Given the description of an element on the screen output the (x, y) to click on. 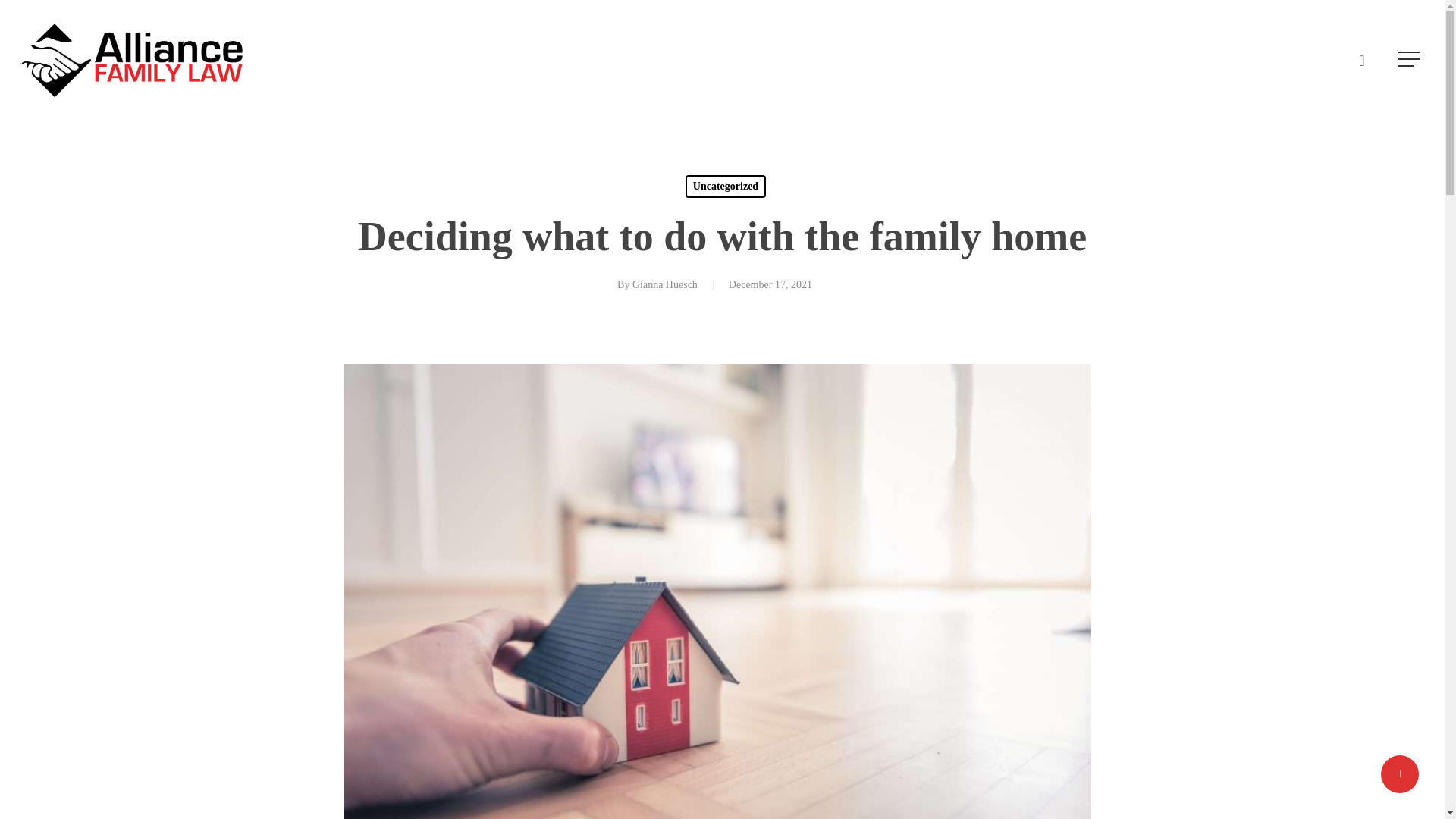
Gianna Huesch (664, 284)
Menu (1410, 59)
Posts by Gianna Huesch (664, 284)
Menu (1410, 7)
facebook (1361, 58)
Uncategorized (725, 186)
